Given the description of an element on the screen output the (x, y) to click on. 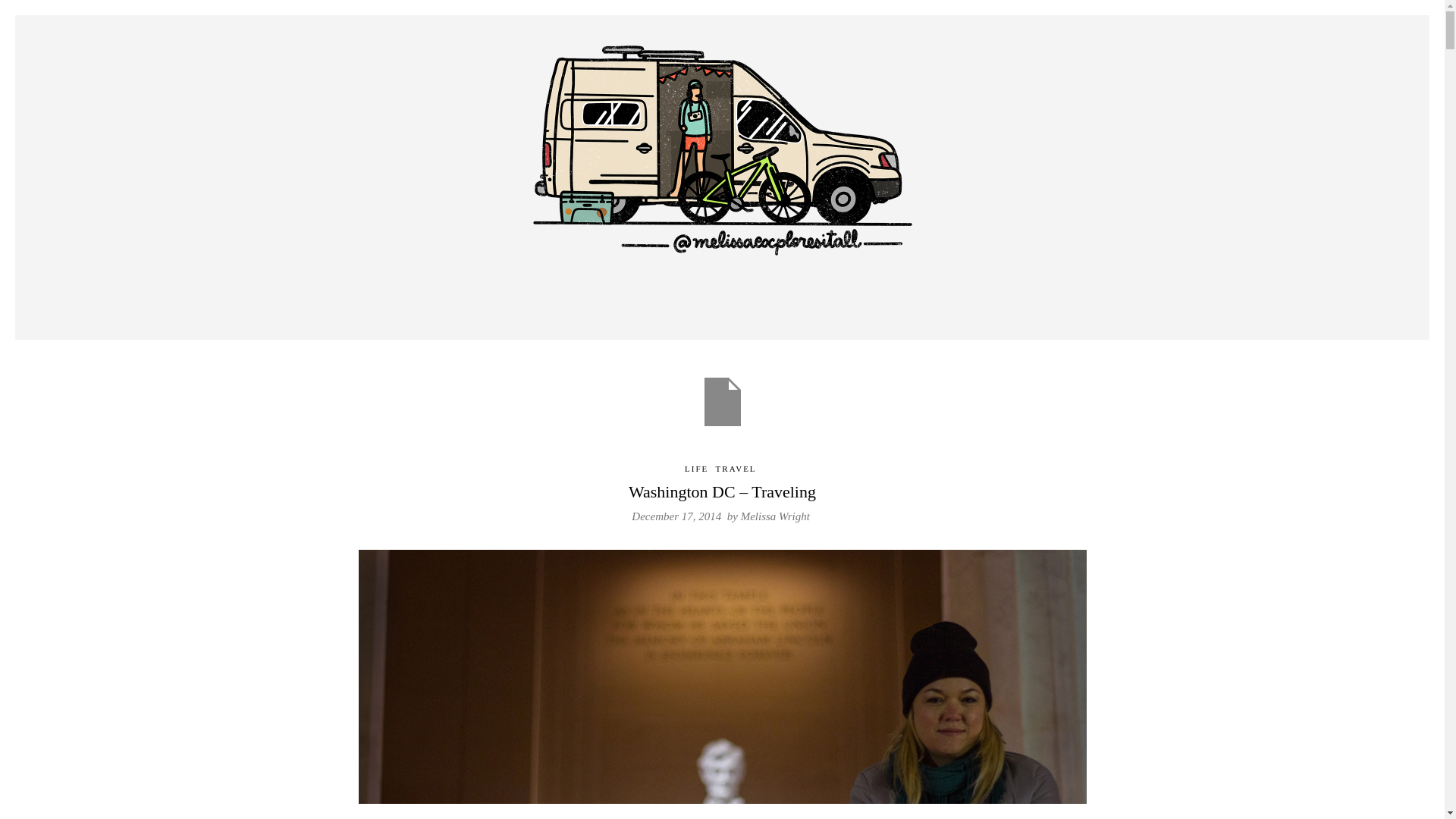
LIFE (695, 468)
Melissa Wright (775, 516)
TRAVEL (736, 468)
